Given the description of an element on the screen output the (x, y) to click on. 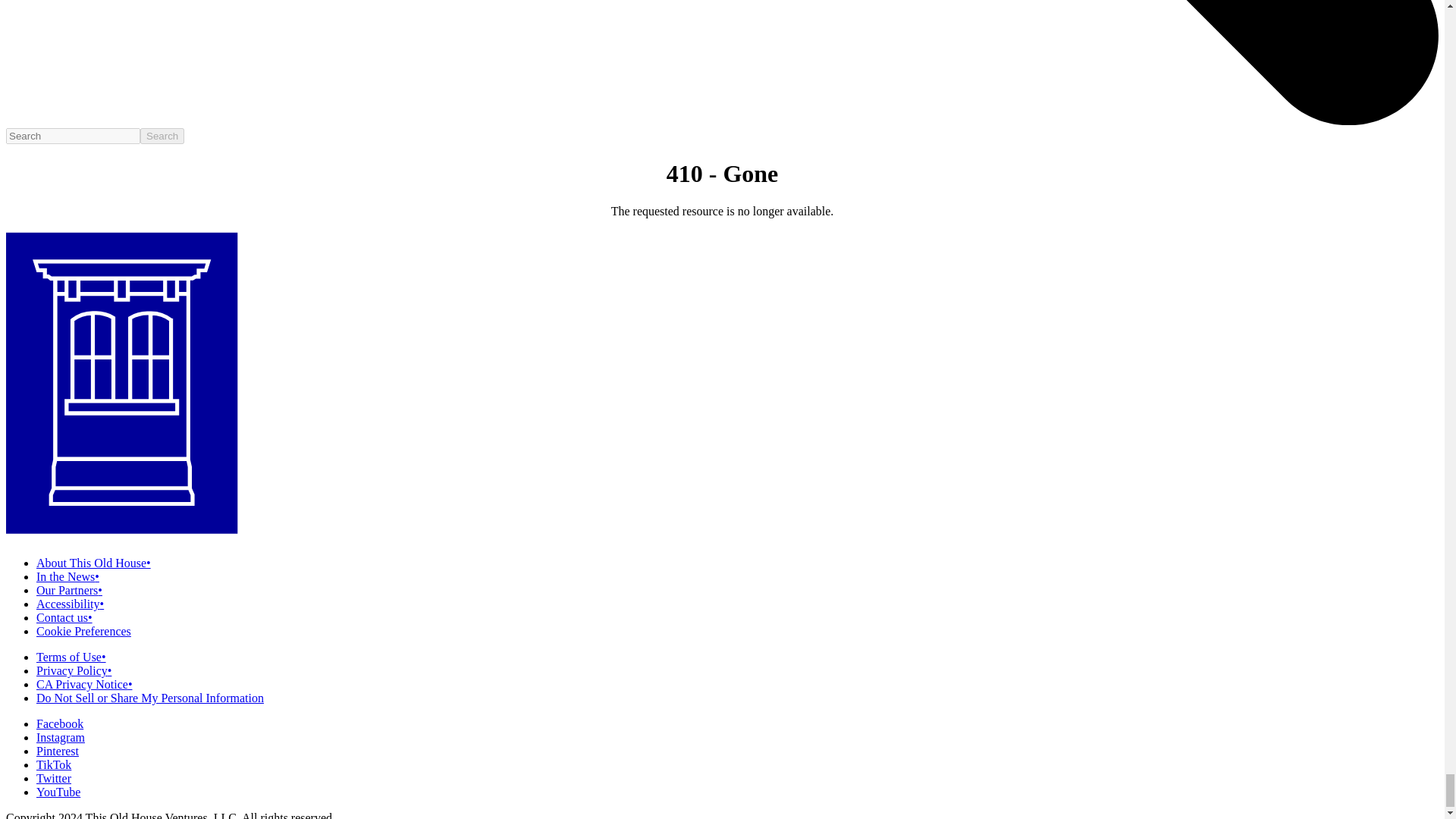
Search (161, 135)
